Given the description of an element on the screen output the (x, y) to click on. 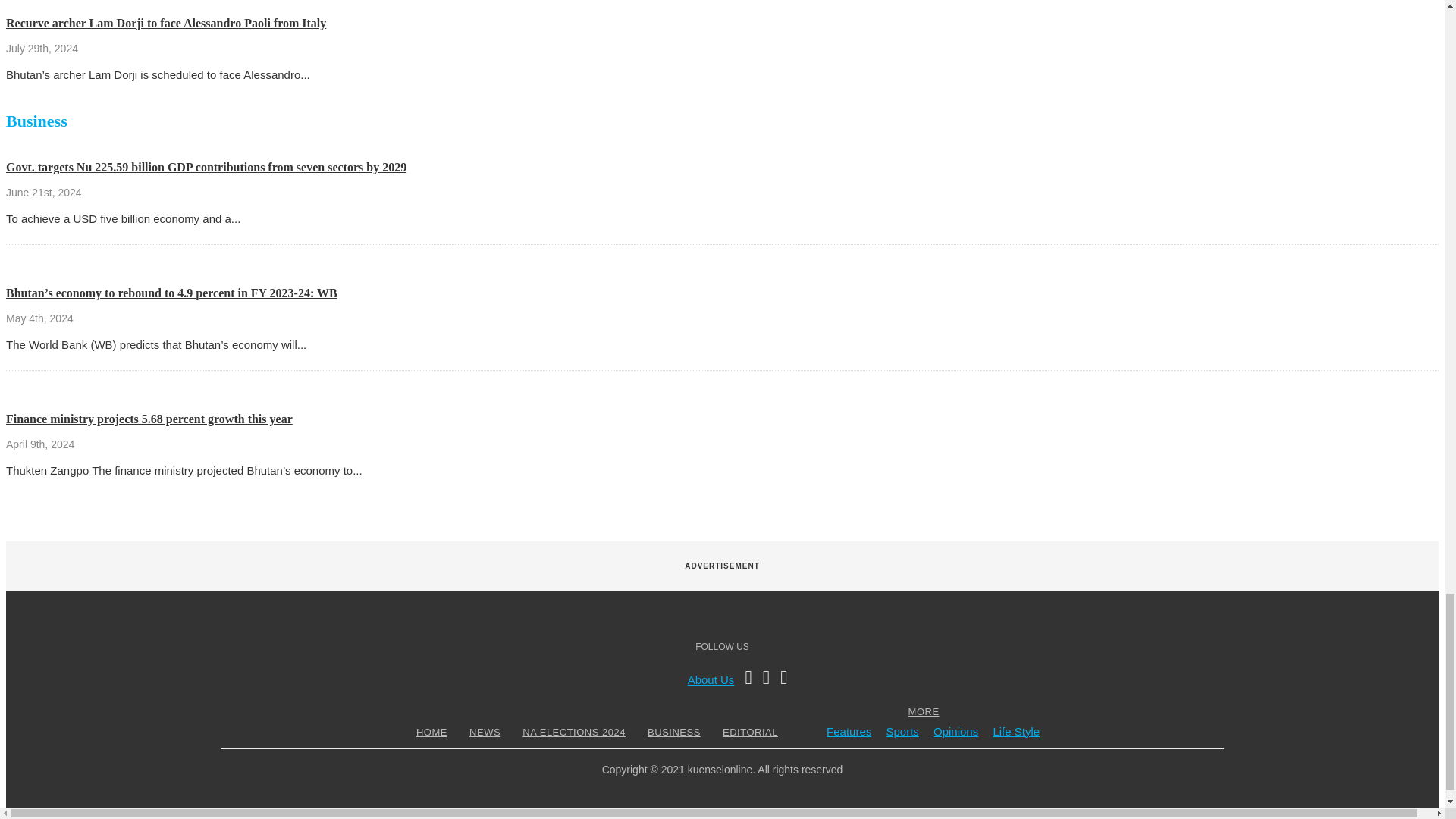
BUSINESS (673, 731)
EDITORIAL (750, 731)
Finance ministry projects 5.68 percent growth this year (148, 418)
NEWS (484, 731)
HOME (431, 731)
MORE (923, 711)
About Us (711, 679)
NA ELECTIONS 2024 (573, 731)
Recurve archer Lam Dorji to face Alessandro Paoli from Italy (165, 22)
